Given the description of an element on the screen output the (x, y) to click on. 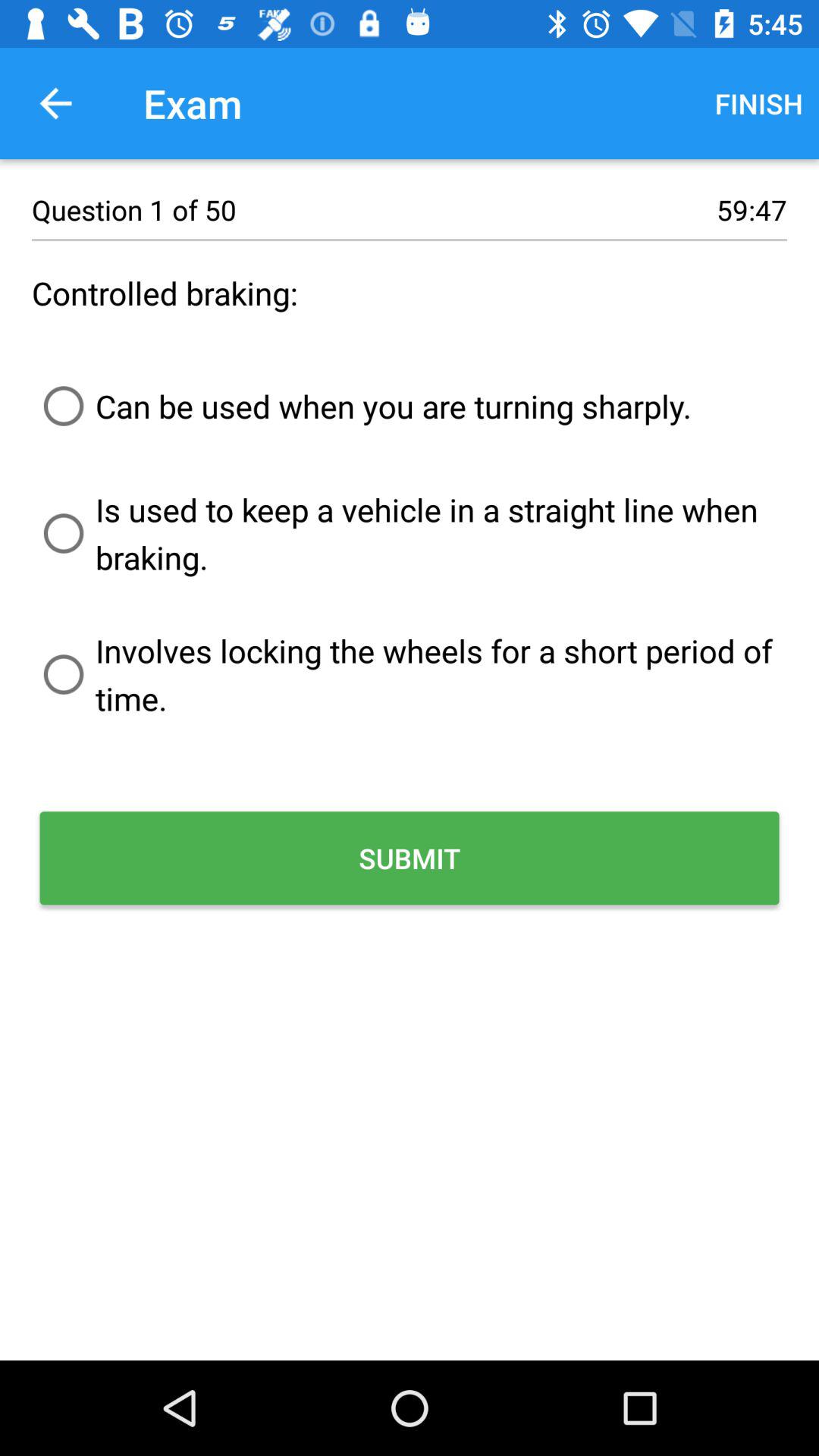
choose the icon below the involves locking the (409, 857)
